Given the description of an element on the screen output the (x, y) to click on. 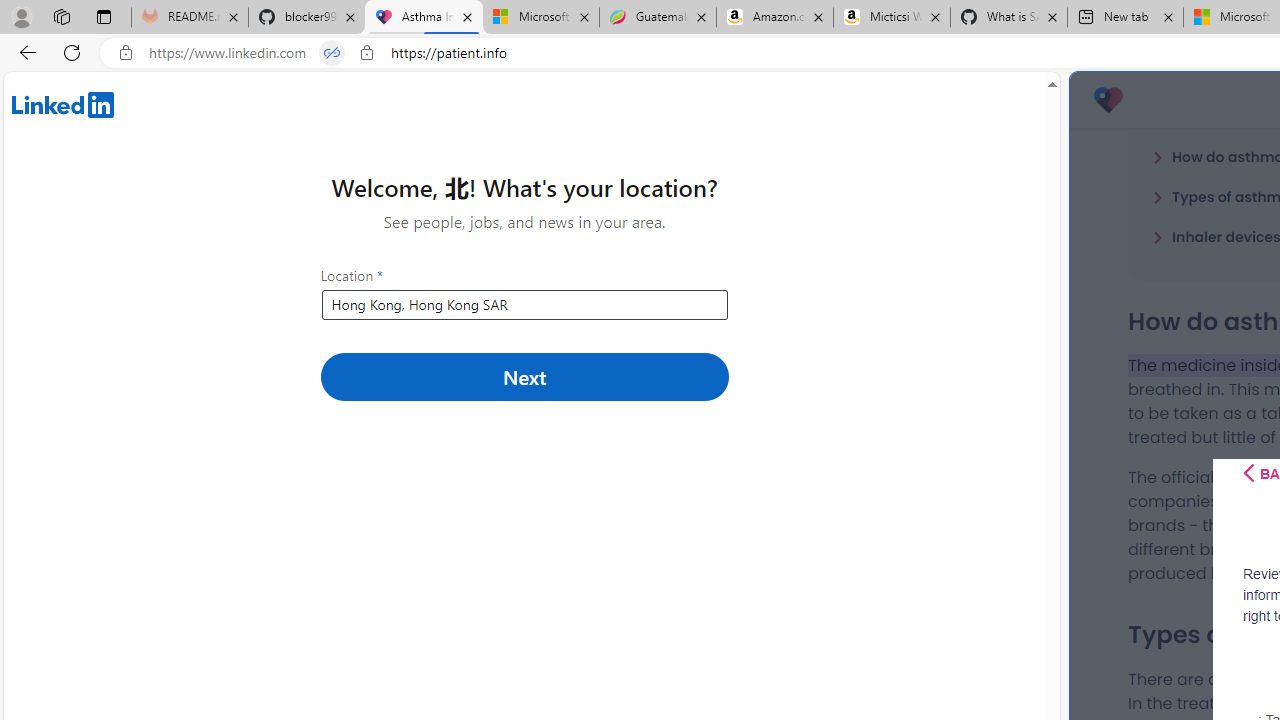
Asthma Inhalers: Names and Types (424, 17)
Tabs in split screen (331, 53)
Patient 3.0 (1108, 100)
